Given the description of an element on the screen output the (x, y) to click on. 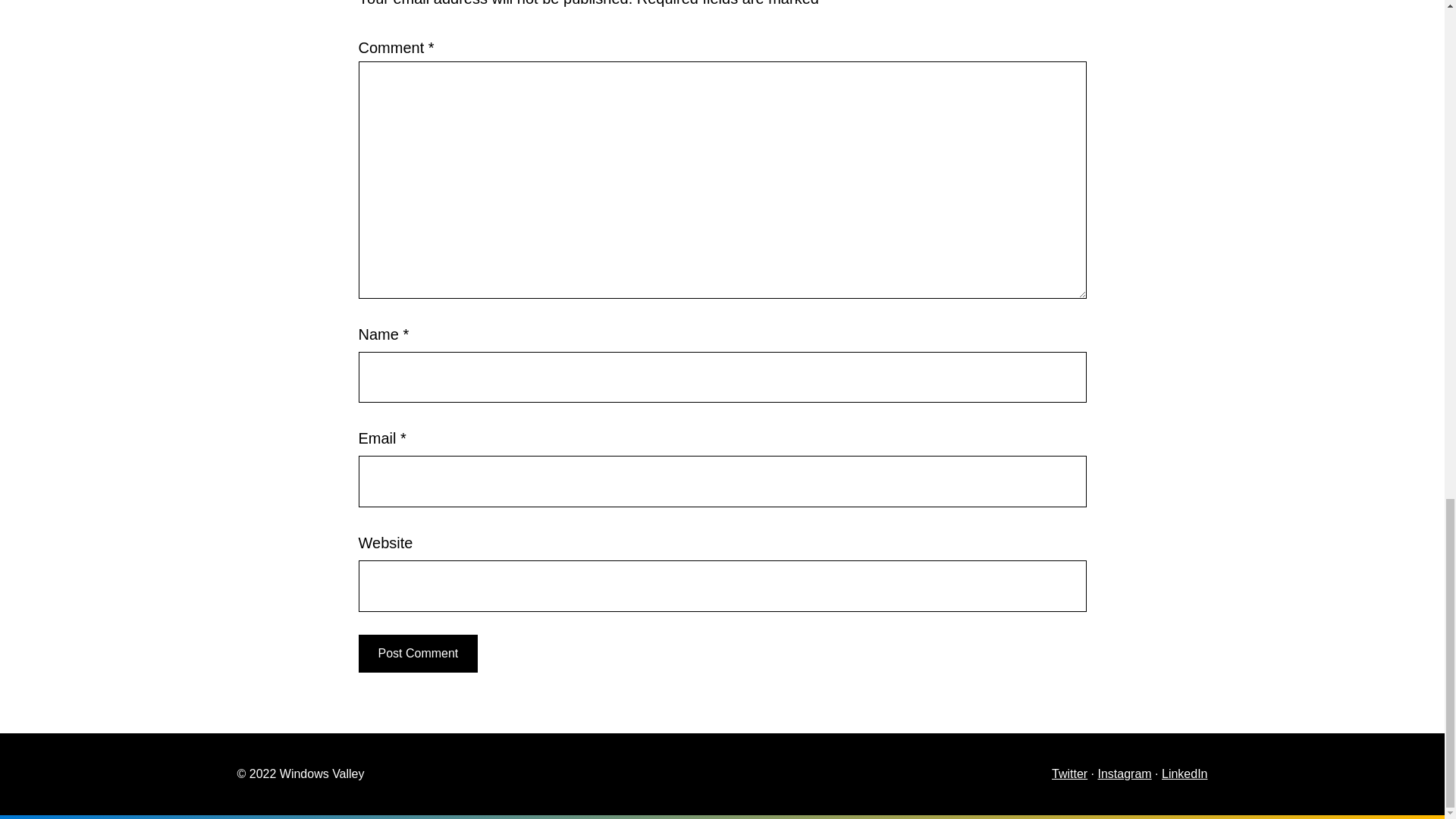
Post Comment (417, 653)
Post Comment (417, 653)
LinkedIn (1184, 773)
Twitter (1069, 773)
Instagram (1124, 773)
